Given the description of an element on the screen output the (x, y) to click on. 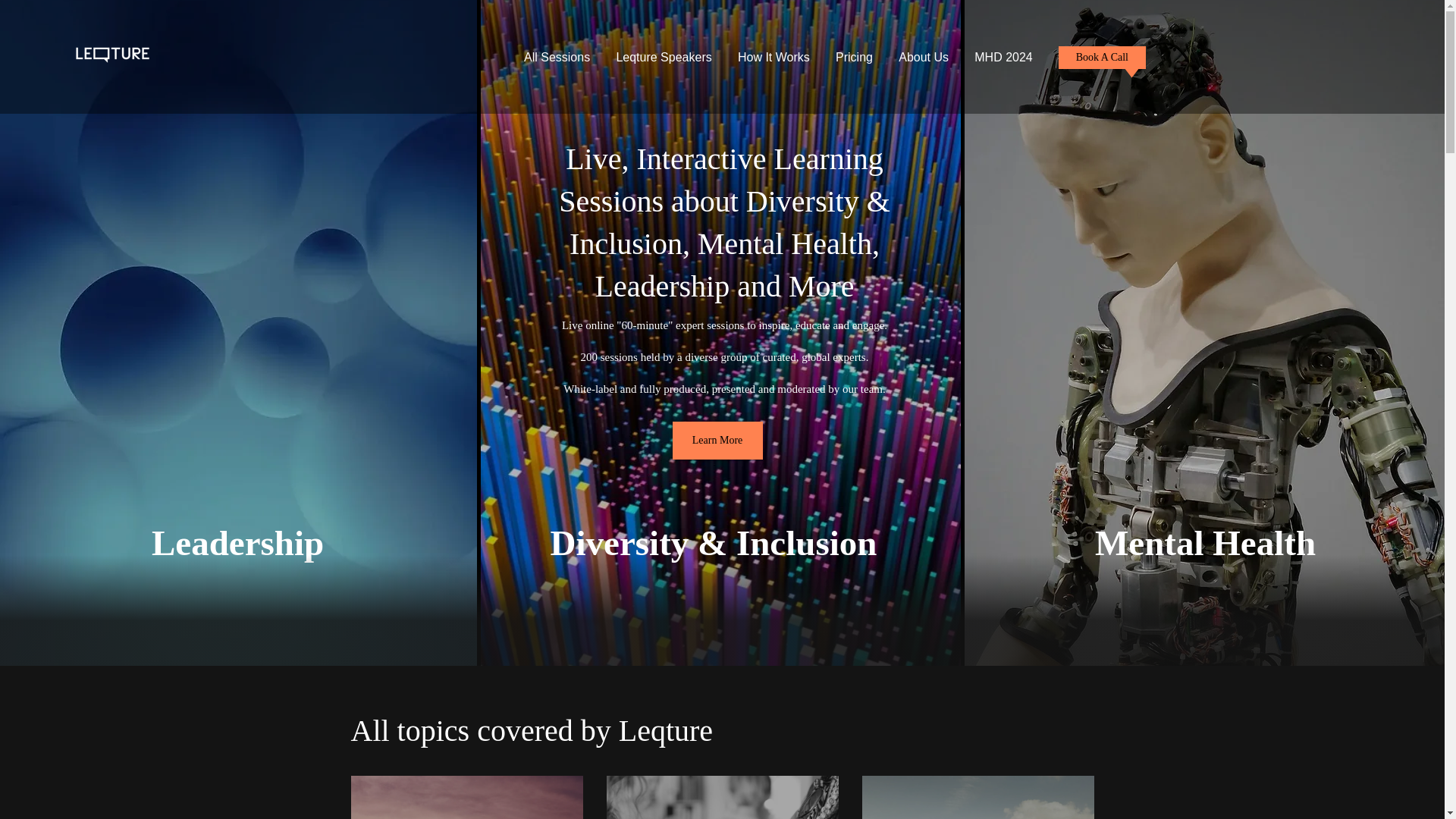
All Sessions (556, 58)
About Us (923, 58)
Leqture Speakers (663, 58)
Pricing (853, 58)
Learn More (717, 440)
MHD 2024 (1002, 58)
Book A Call (1101, 56)
